Given the description of an element on the screen output the (x, y) to click on. 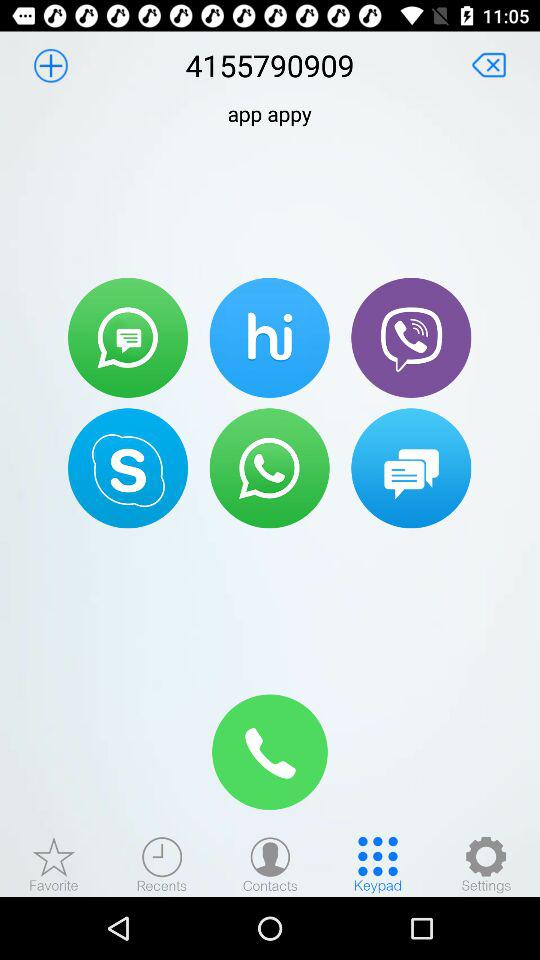
this button is used to make calls (269, 468)
